Given the description of an element on the screen output the (x, y) to click on. 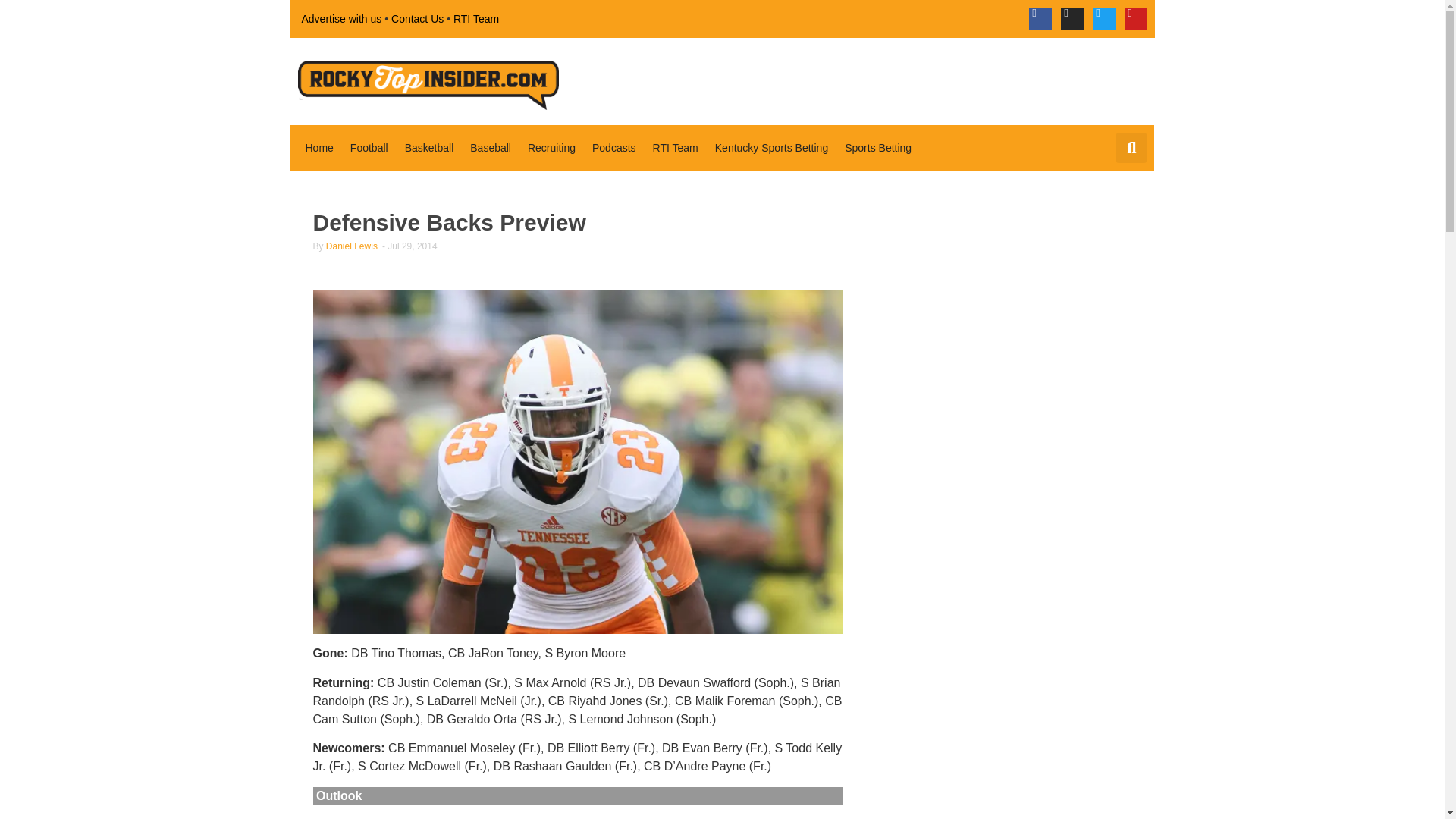
Basketball (429, 147)
Podcasts (614, 147)
Contact Us (417, 18)
Football (369, 147)
Baseball (490, 147)
Home (318, 147)
RTI Team (675, 147)
Recruiting (551, 147)
Advertise with us (341, 18)
RTI Team (475, 18)
